Given the description of an element on the screen output the (x, y) to click on. 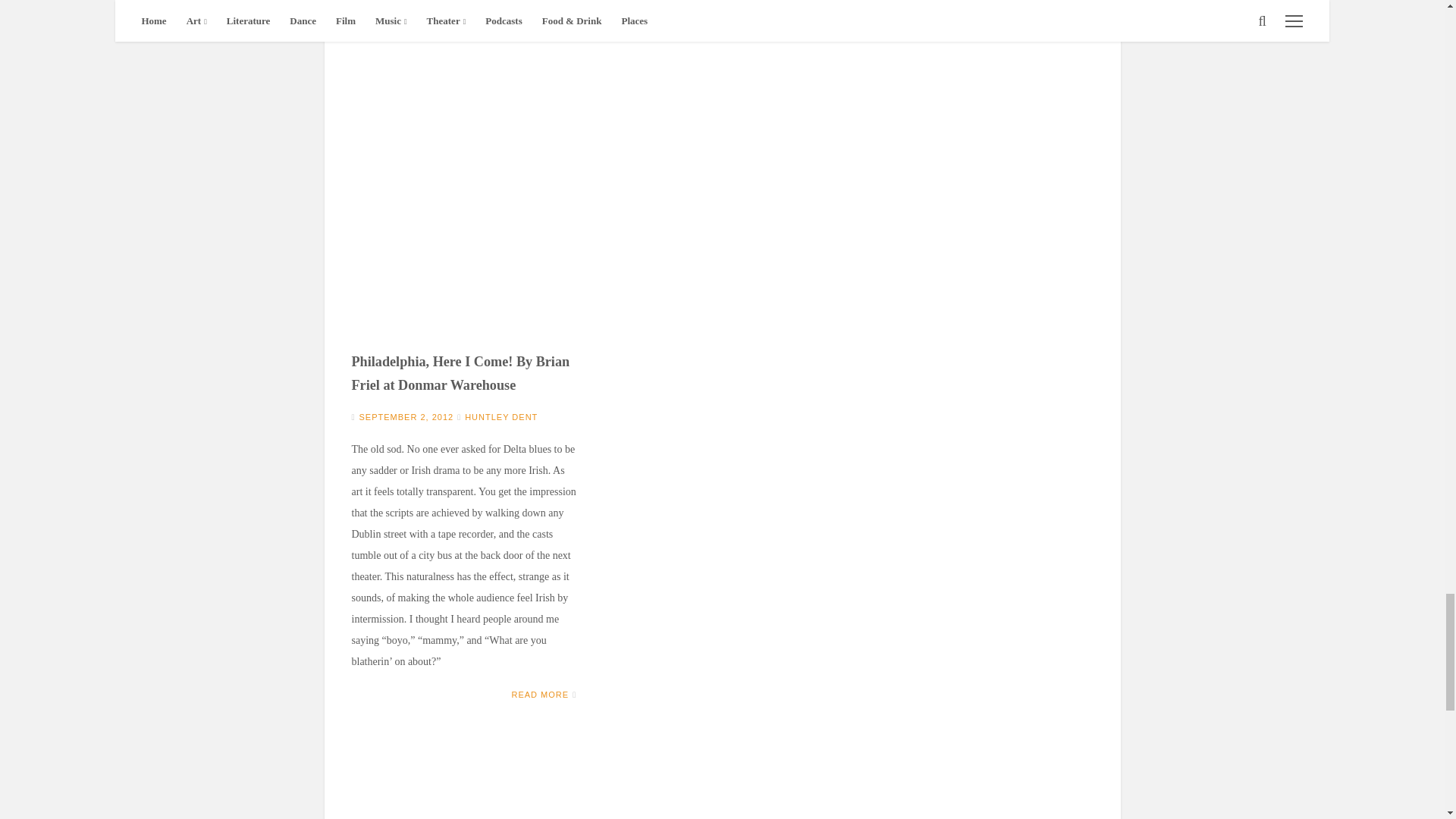
BBC Prom 63: Berliner Philharmoniker and Sir Simon Rattle (464, 782)
